Given the description of an element on the screen output the (x, y) to click on. 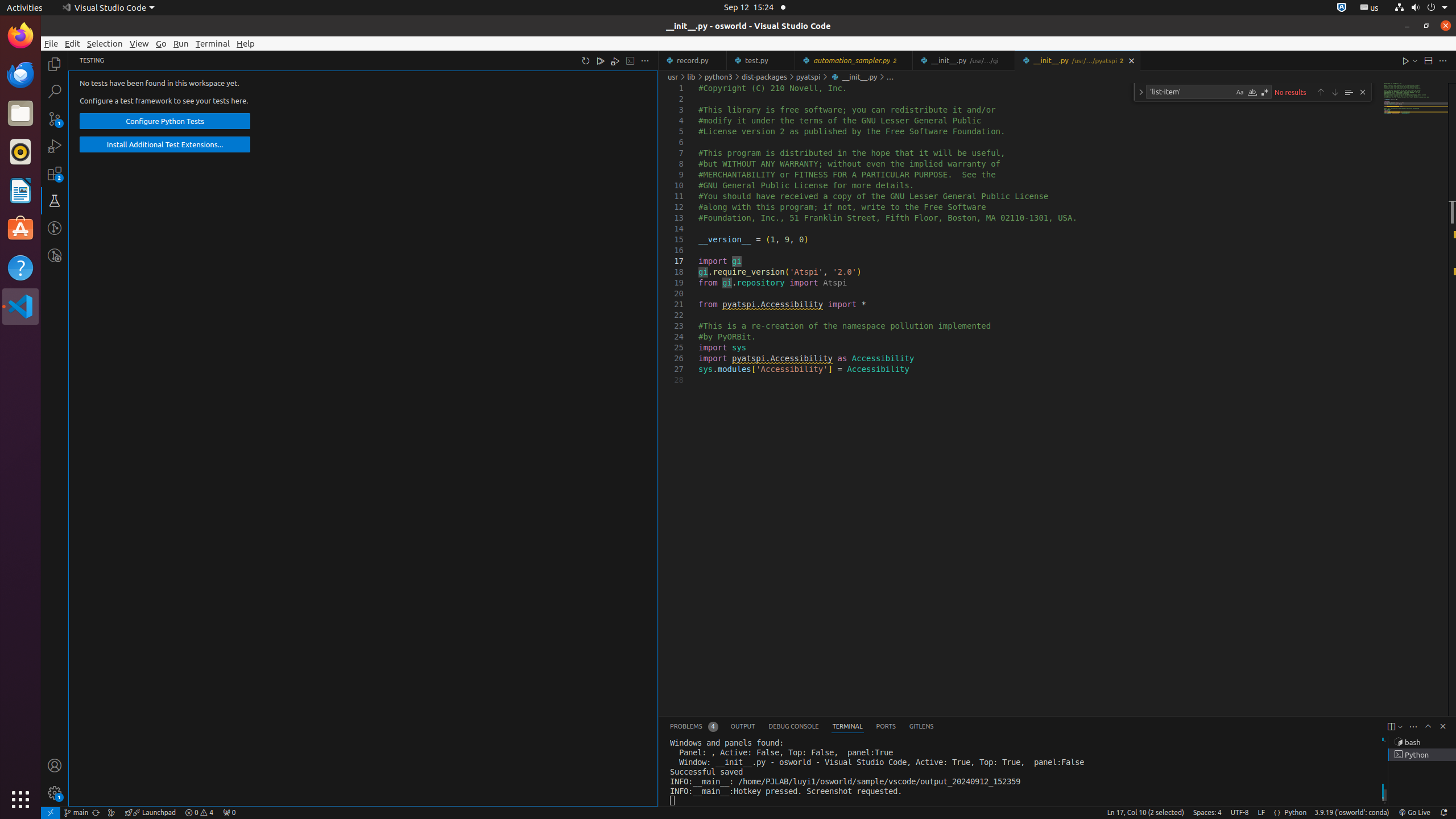
Close (Escape) Element type: push-button (1362, 91)
Hide Panel Element type: push-button (1442, 726)
Previous Match (Shift+Enter) Element type: push-button (1320, 91)
